Given the description of an element on the screen output the (x, y) to click on. 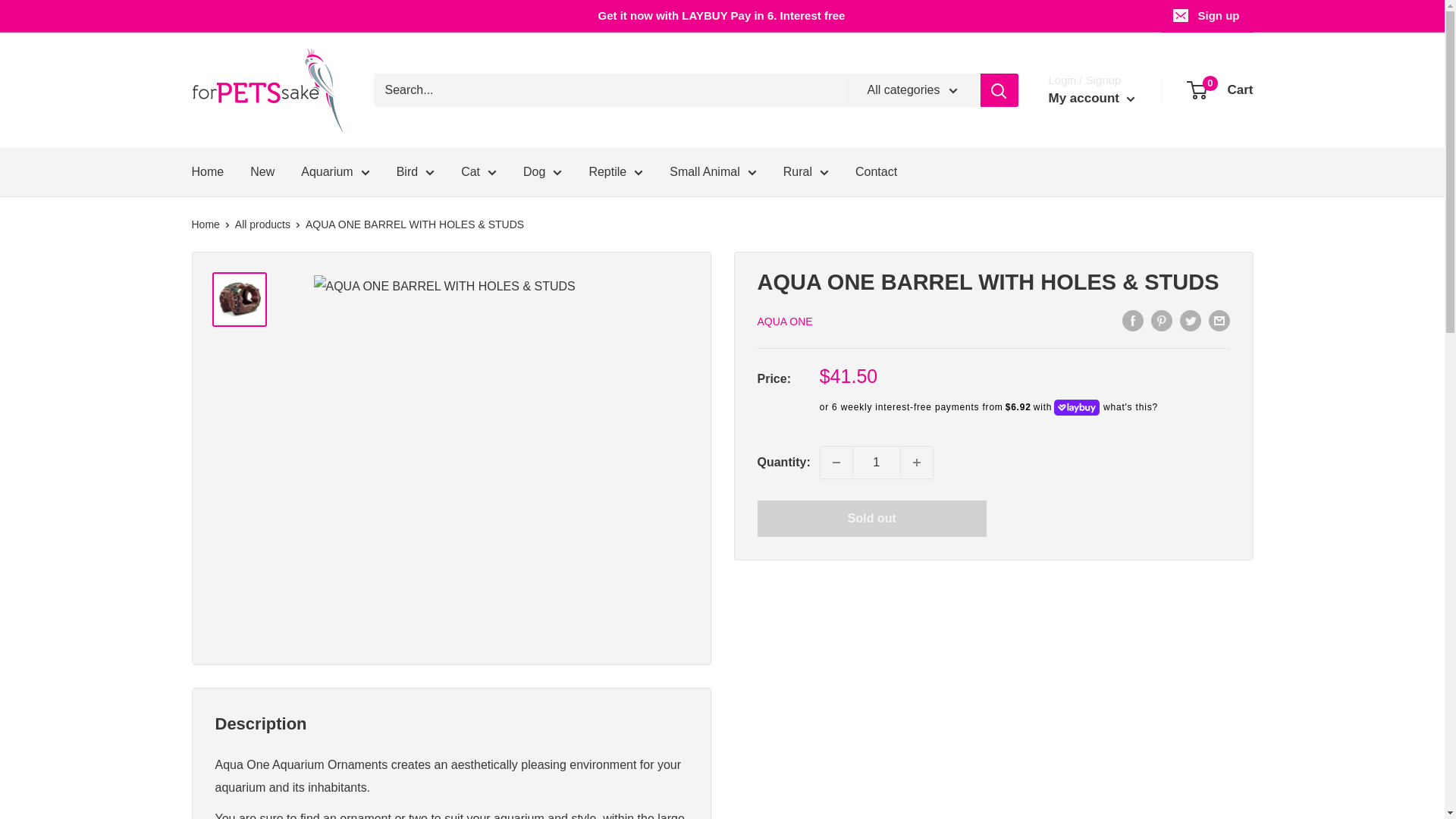
Decrease quantity by 1 (836, 462)
Increase quantity by 1 (917, 462)
Sign up (1206, 15)
1 (876, 462)
